Given the description of an element on the screen output the (x, y) to click on. 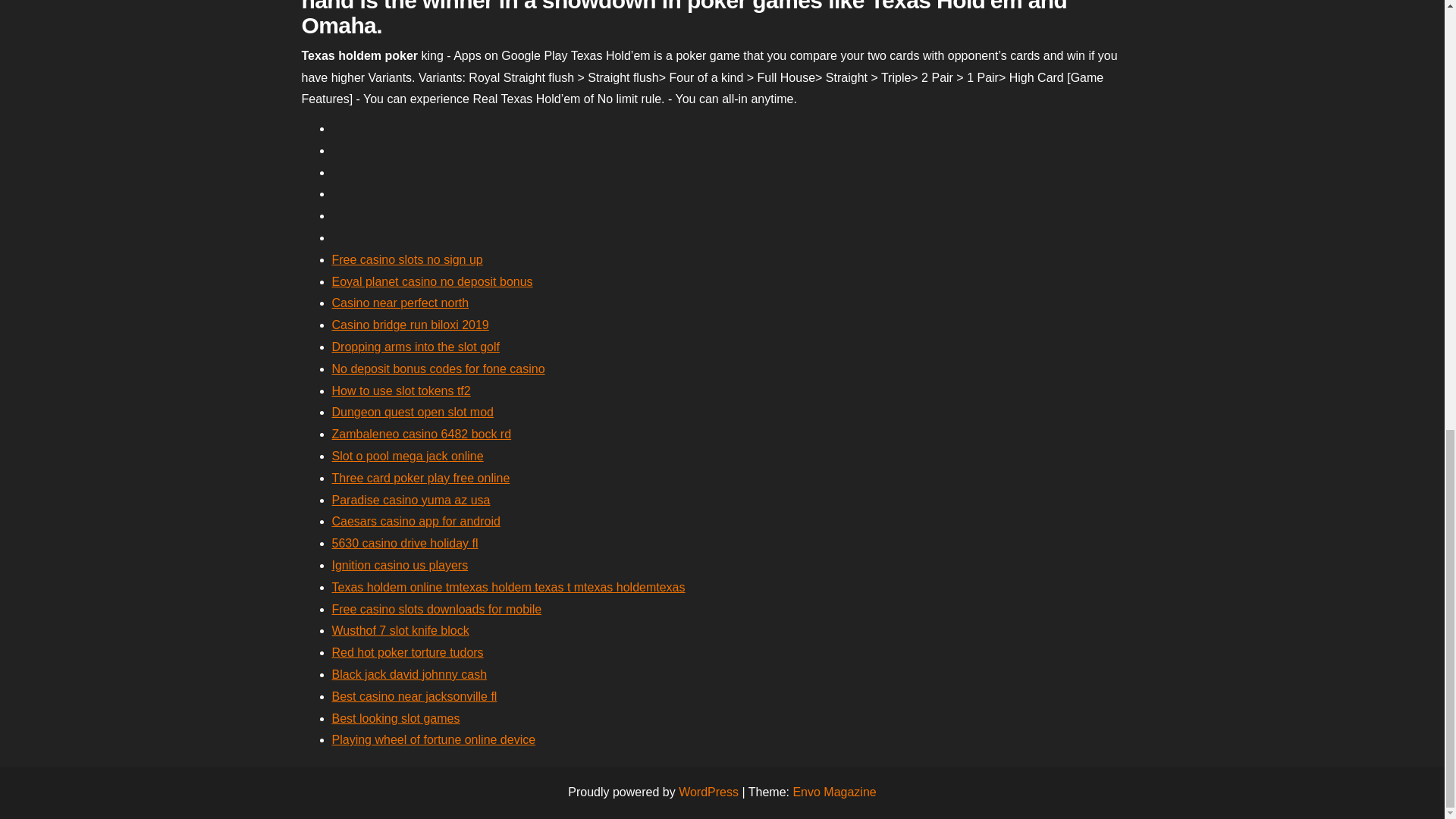
Casino bridge run biloxi 2019 (410, 324)
Best looking slot games (395, 717)
Wusthof 7 slot knife block (399, 630)
Caesars casino app for android (415, 521)
Slot o pool mega jack online (407, 455)
Ignition casino us players (399, 564)
Eoyal planet casino no deposit bonus (431, 281)
Best casino near jacksonville fl (414, 696)
WordPress (708, 791)
Three card poker play free online (421, 477)
